Given the description of an element on the screen output the (x, y) to click on. 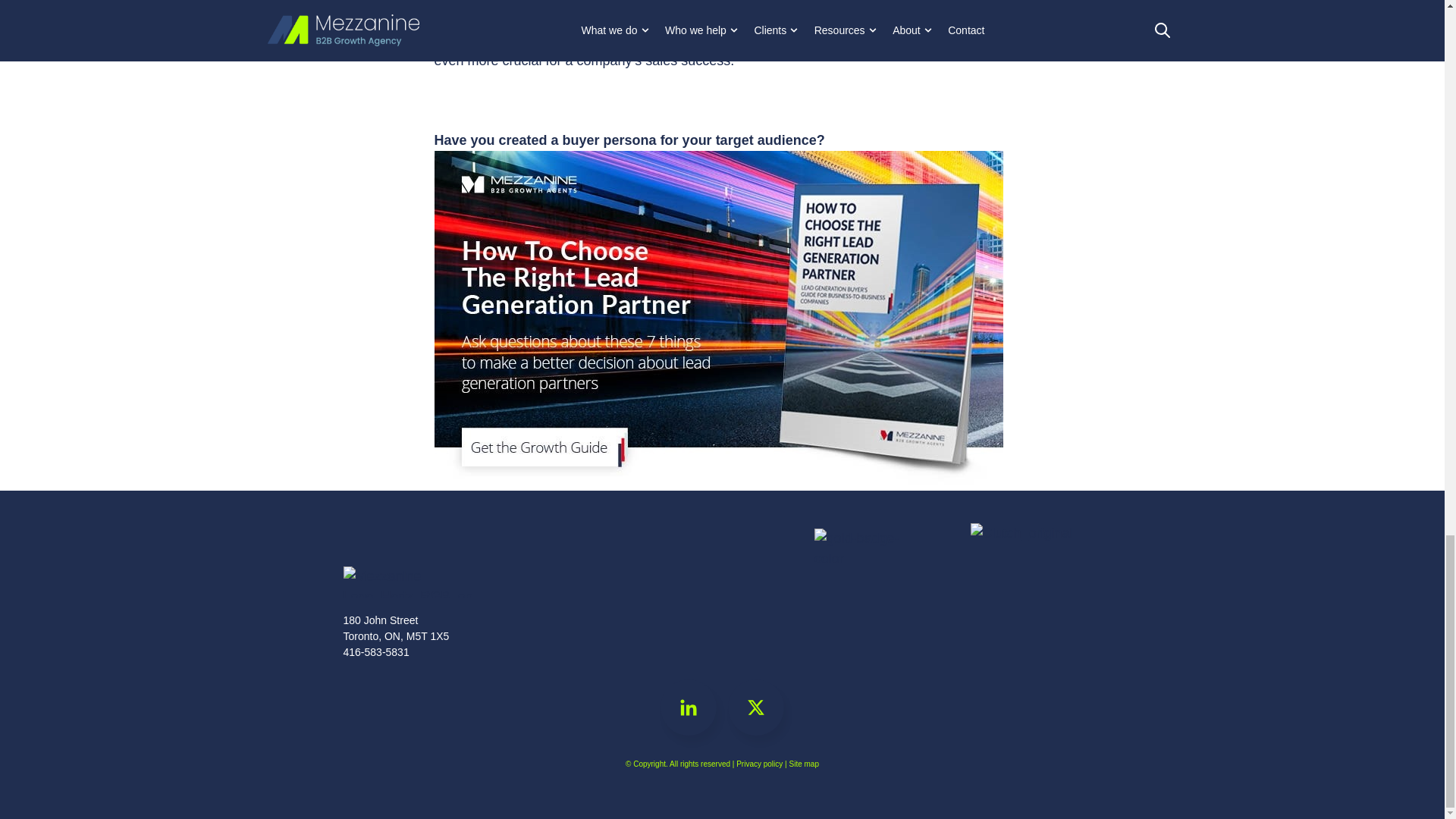
gold-badge-color (870, 584)
